Given the description of an element on the screen output the (x, y) to click on. 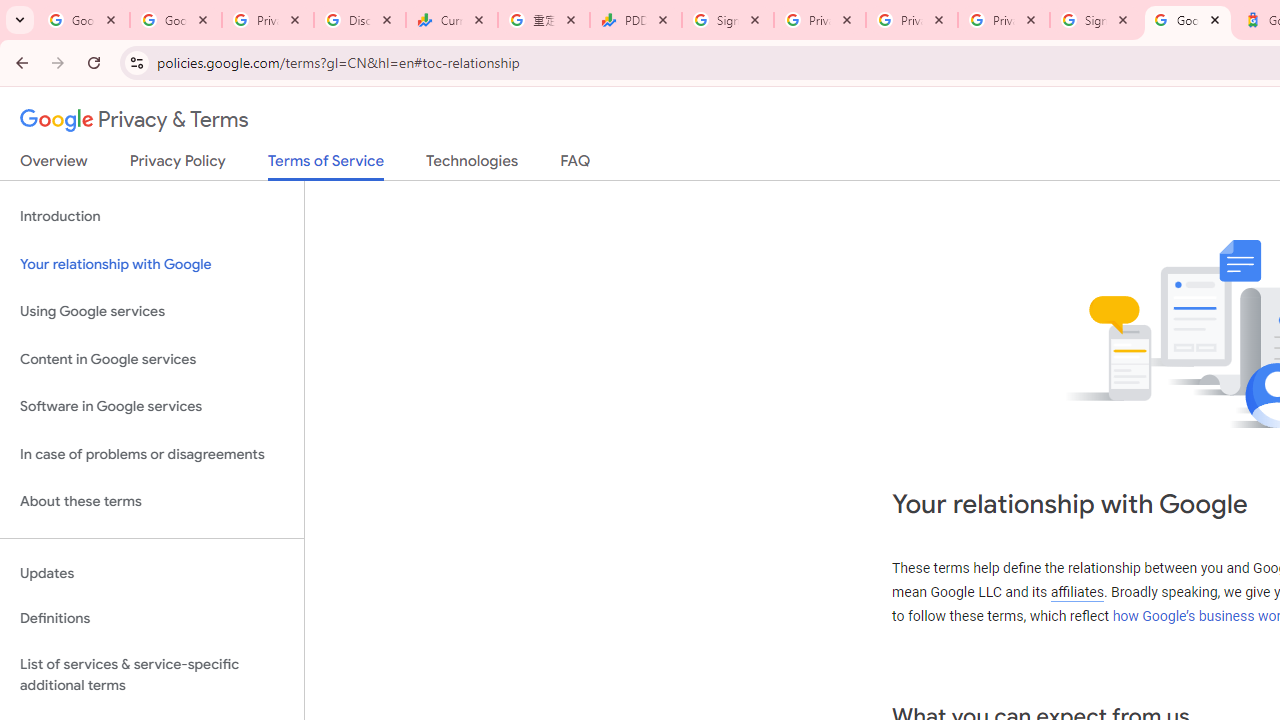
About these terms (152, 502)
Privacy Checkup (1003, 20)
Content in Google services (152, 358)
Google Workspace Admin Community (83, 20)
Sign in - Google Accounts (1095, 20)
Using Google services (152, 312)
